Given the description of an element on the screen output the (x, y) to click on. 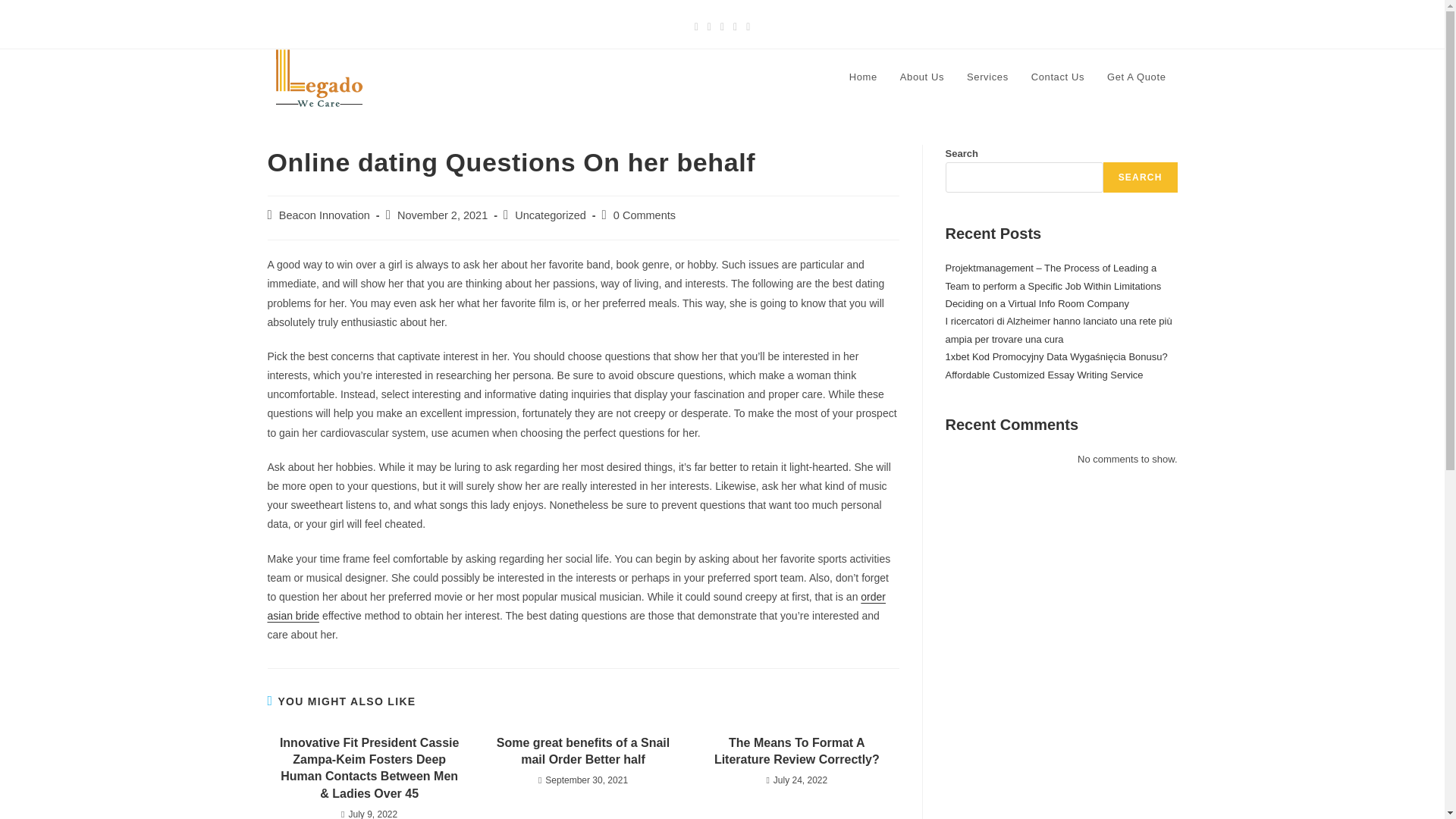
Home (863, 77)
Contact Us (1058, 77)
The Means To Format A Literature Review Correctly? (796, 751)
order asian bride (575, 605)
Affordable Customized Essay Writing Service (1043, 374)
Services (987, 77)
Get A Quote (1136, 77)
About Us (921, 77)
Uncategorized (550, 215)
Beacon Innovation (324, 215)
0 Comments (643, 215)
Posts by Beacon Innovation (324, 215)
Some great benefits of a Snail mail Order Better half (582, 751)
Deciding on a Virtual Info Room Company (1036, 303)
SEARCH (1140, 177)
